Given the description of an element on the screen output the (x, y) to click on. 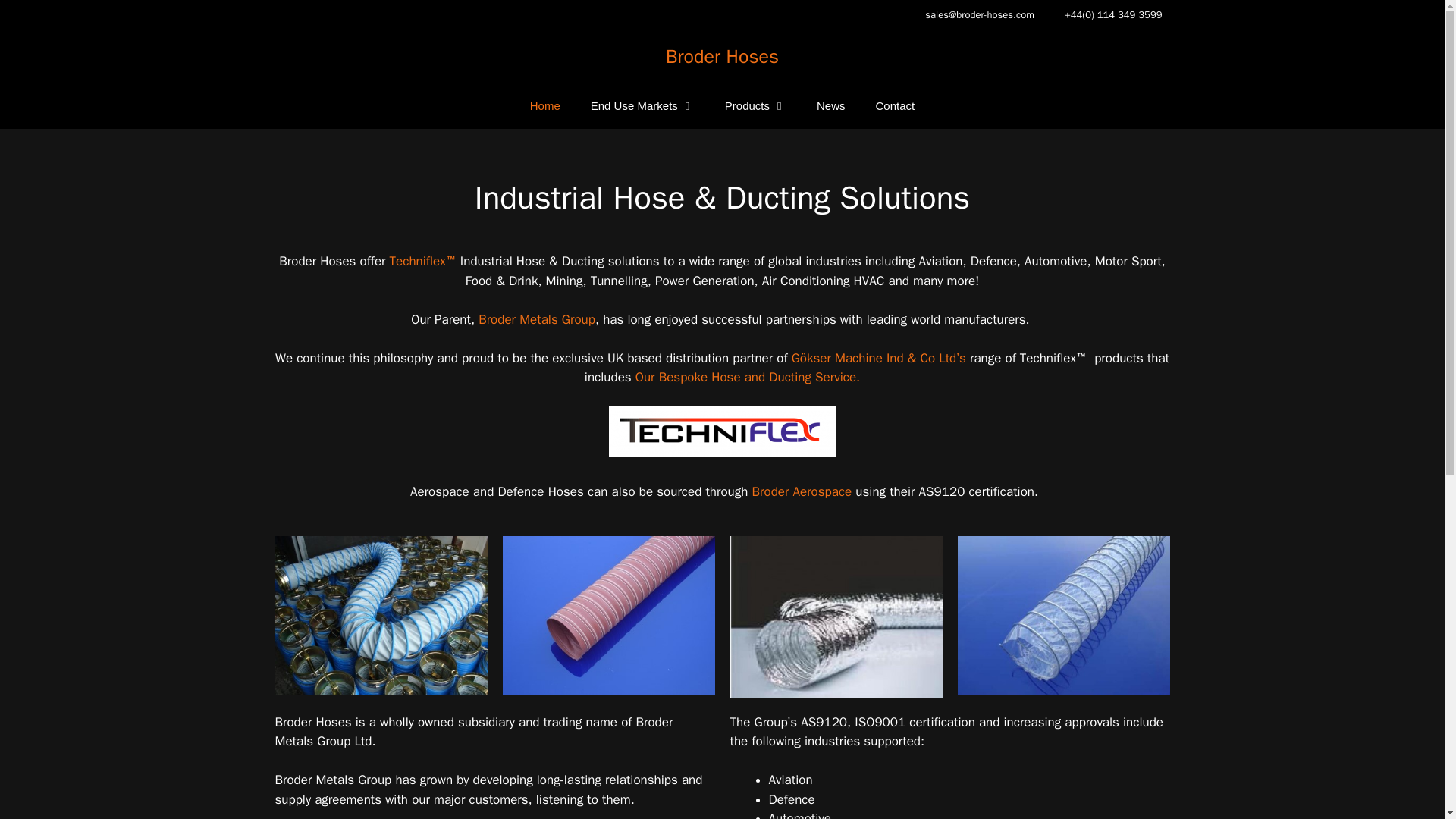
News (831, 105)
Broder Hoses (721, 56)
Broder Metals Group (537, 318)
End Use Markets (642, 105)
Home (545, 105)
Contact (895, 105)
Broder Aerospace (799, 491)
Products (756, 105)
Our Bespoke Hose and Ducting Service. (747, 376)
